Given the description of an element on the screen output the (x, y) to click on. 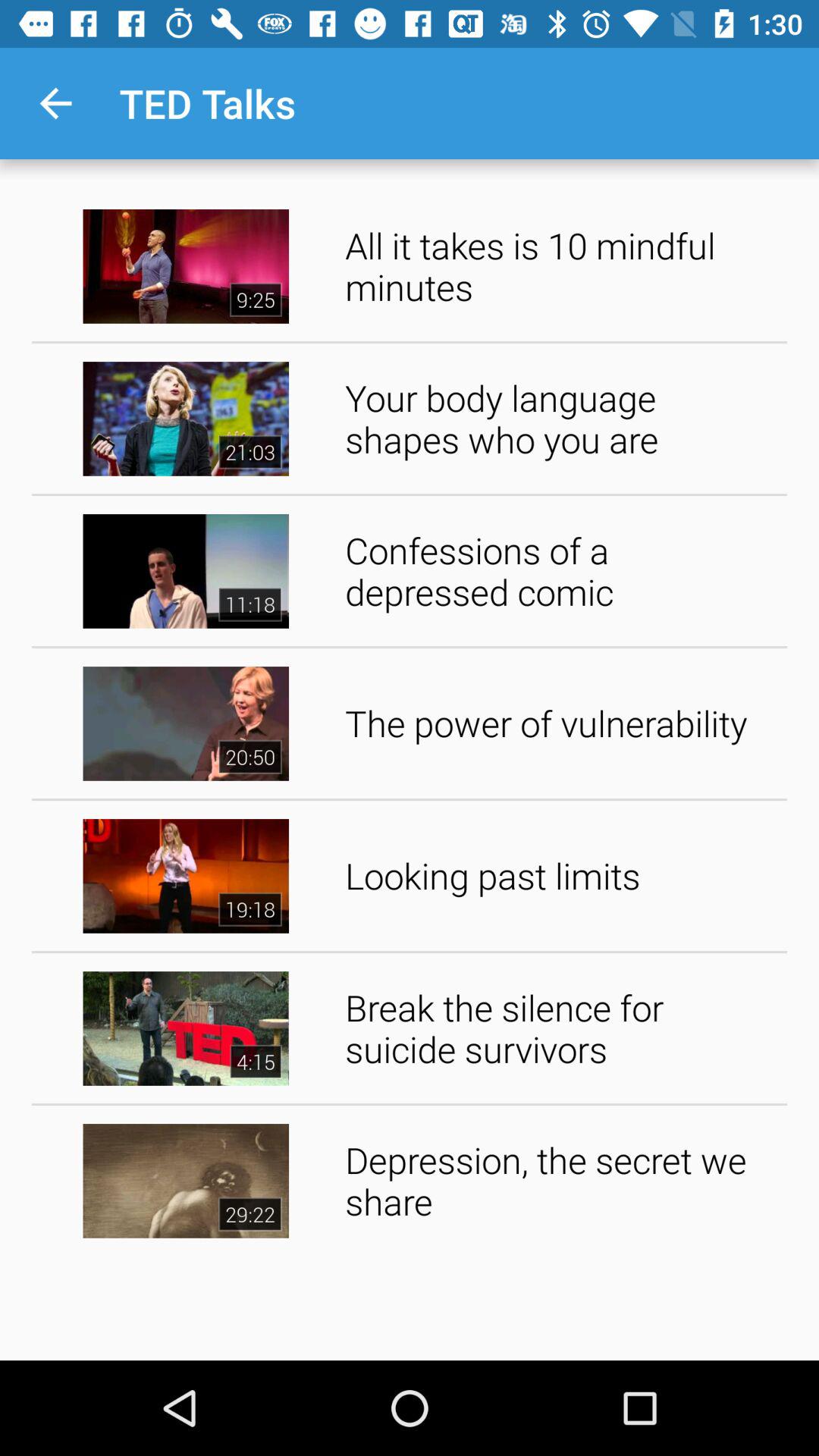
turn off app below the power of app (560, 875)
